Given the description of an element on the screen output the (x, y) to click on. 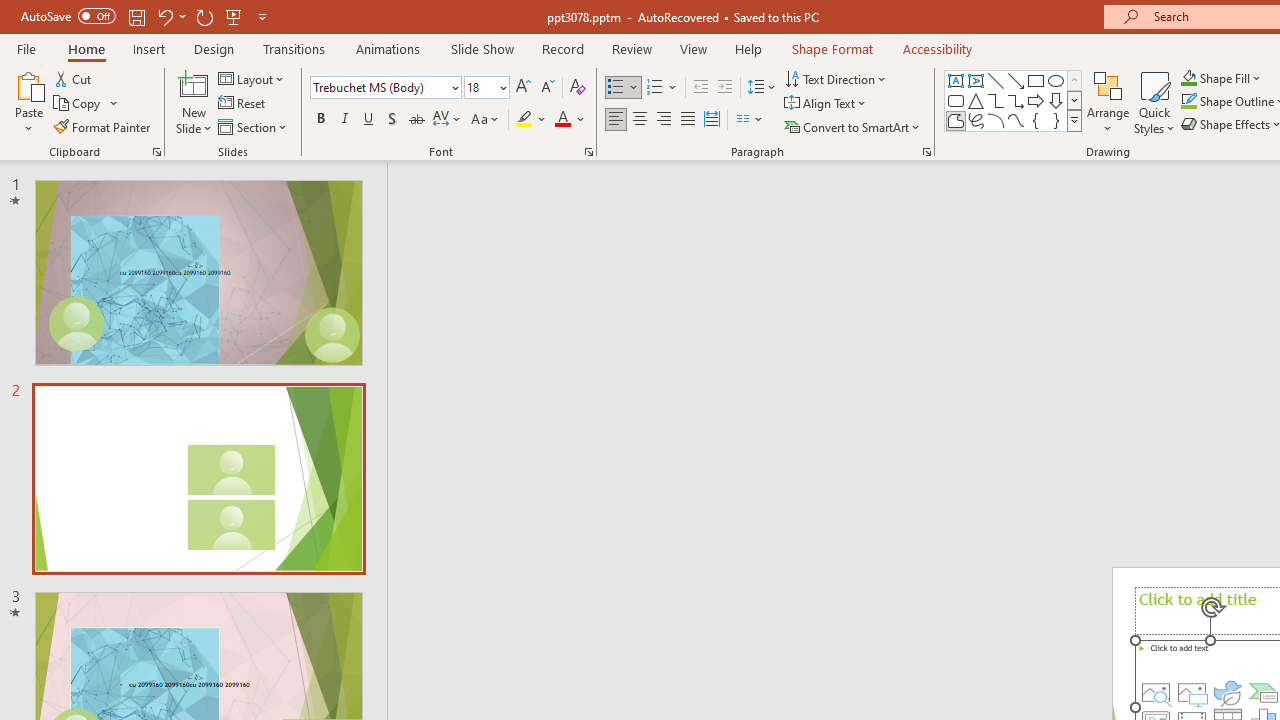
Insert an Icon (1228, 692)
